Given the description of an element on the screen output the (x, y) to click on. 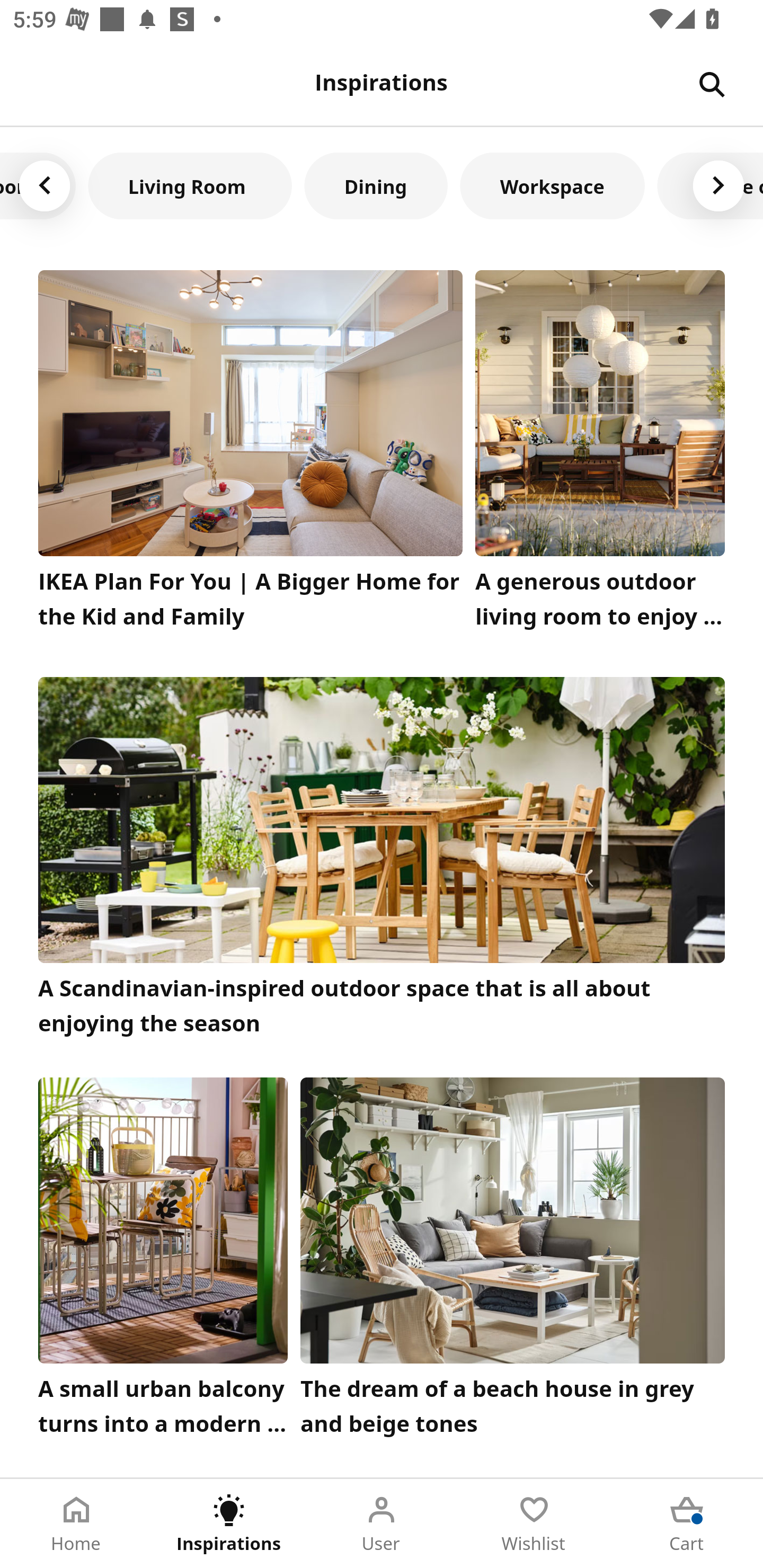
Living Room  (190, 185)
Dining (375, 185)
Workspace (552, 185)
The dream of a beach house in grey and beige tones (512, 1261)
Home
Tab 1 of 5 (76, 1522)
Inspirations
Tab 2 of 5 (228, 1522)
User
Tab 3 of 5 (381, 1522)
Wishlist
Tab 4 of 5 (533, 1522)
Cart
Tab 5 of 5 (686, 1522)
